Given the description of an element on the screen output the (x, y) to click on. 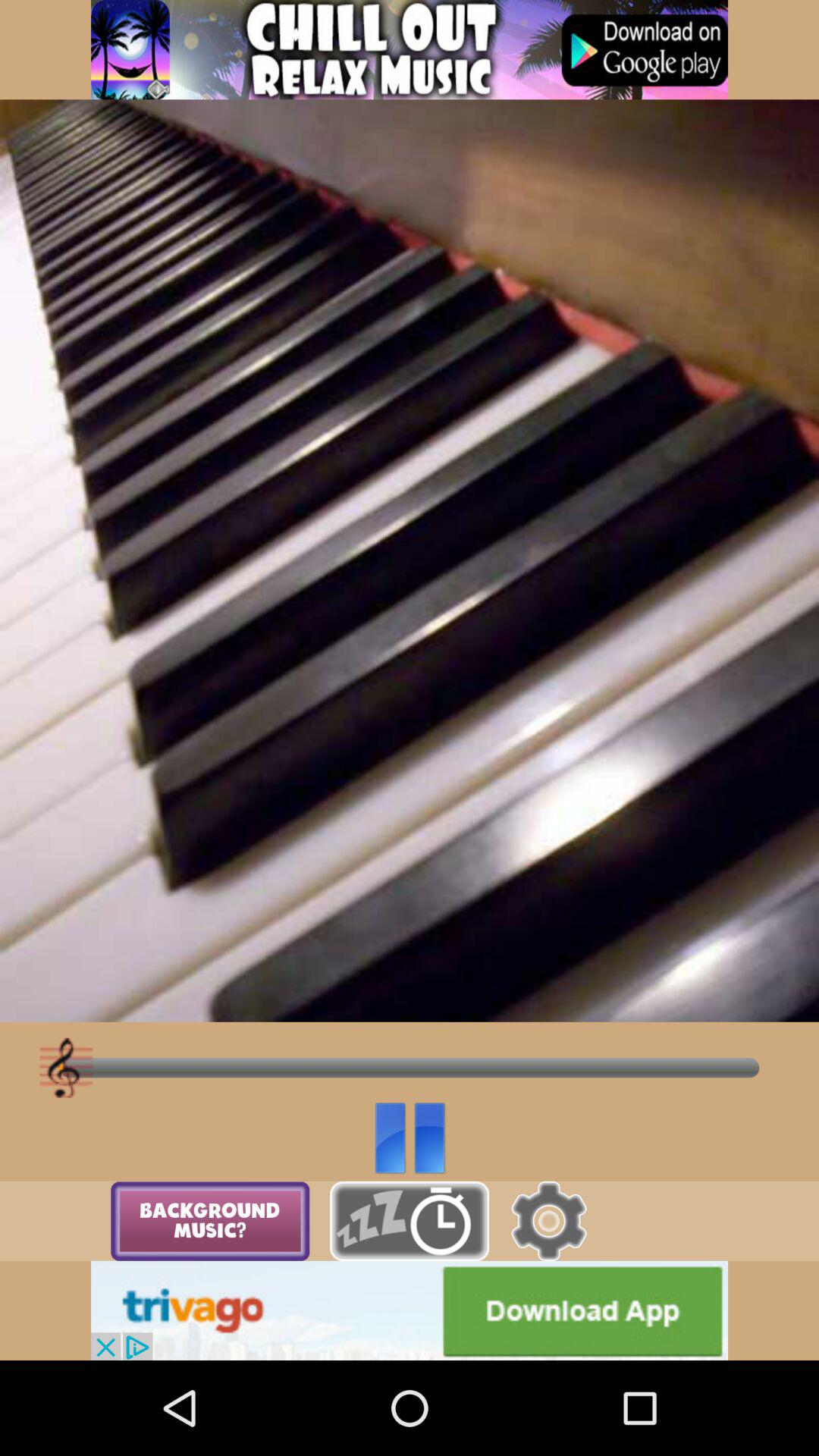
ste sleep timer (409, 1220)
